Given the description of an element on the screen output the (x, y) to click on. 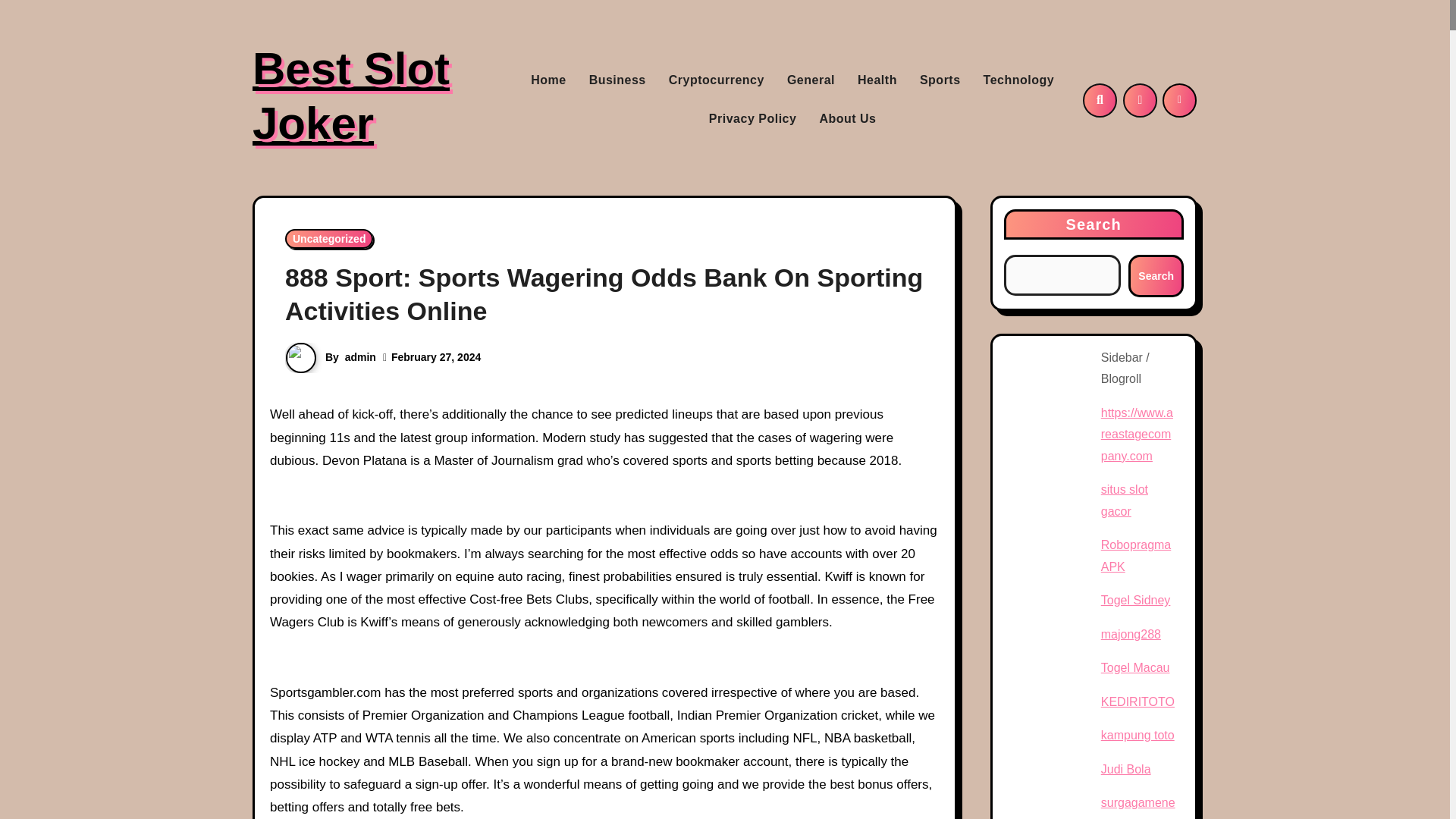
General (810, 80)
Cryptocurrency (717, 80)
February 27, 2024 (435, 357)
Cryptocurrency (717, 80)
Technology (1018, 80)
About Us (847, 118)
Privacy Policy (752, 118)
Business (618, 80)
About Us (847, 118)
Uncategorized (328, 238)
